Given the description of an element on the screen output the (x, y) to click on. 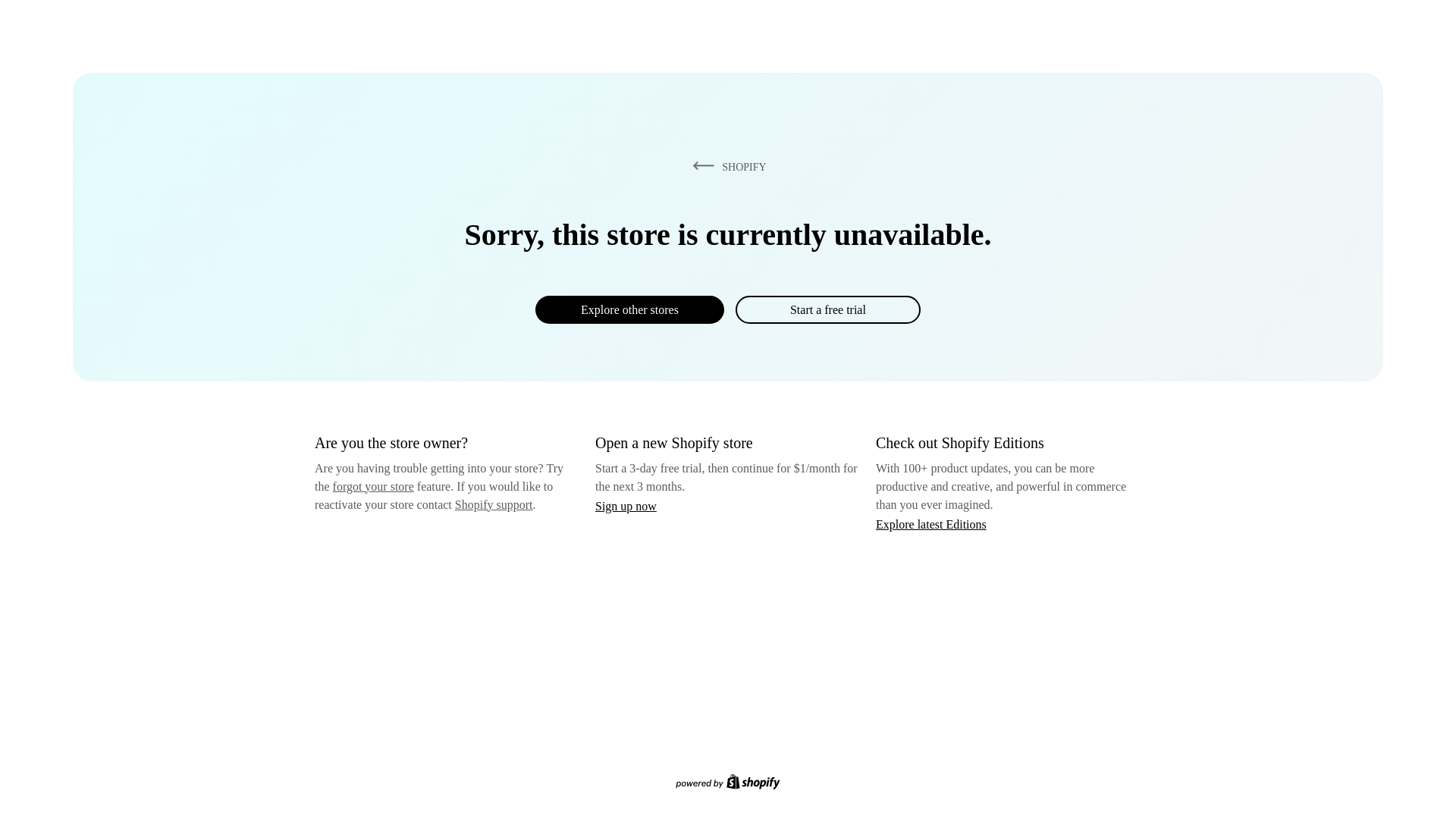
Explore other stores (629, 309)
Start a free trial (827, 309)
Shopify support (493, 504)
Explore latest Editions (931, 523)
Sign up now (625, 505)
SHOPIFY (726, 166)
forgot your store (373, 486)
